Given the description of an element on the screen output the (x, y) to click on. 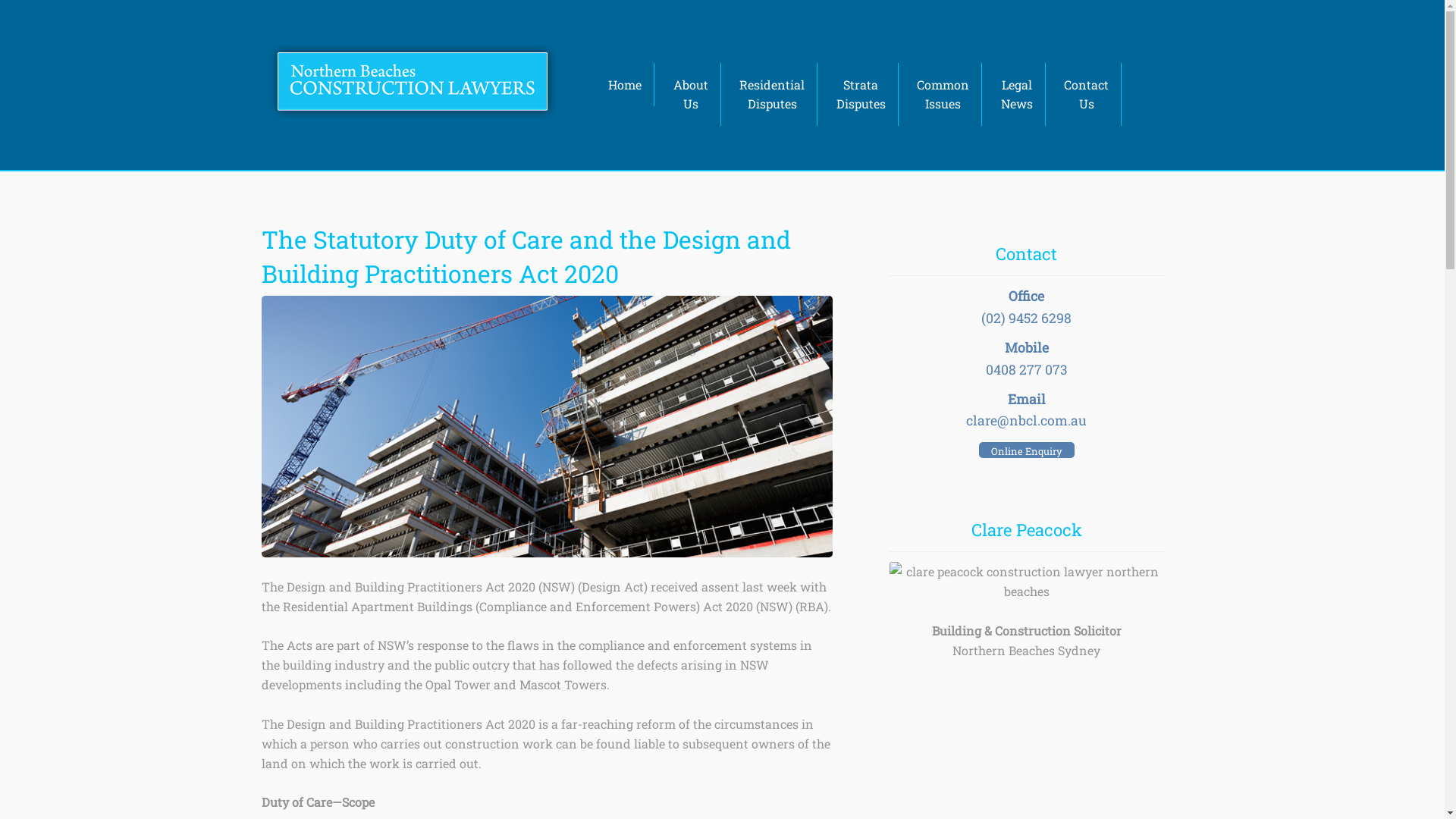
Mobile Element type: text (1026, 347)
0408 277 073 Element type: text (1026, 369)
Online Enquiry Element type: text (1026, 450)
clare@nbcl.com.au Element type: text (1026, 420)
Residential
Disputes Element type: text (772, 94)
Construction & Building Solicitors Sydney Element type: hover (412, 81)
Email Element type: text (1026, 398)
Common
Issues Element type: text (943, 94)
(02) 9452 6298 Element type: text (1026, 317)
Office Element type: text (1026, 295)
Legal
News Element type: text (1016, 94)
Strata
Disputes Element type: text (861, 94)
About
Us Element type: text (691, 94)
Home Element type: text (625, 84)
Contact
Us Element type: text (1086, 94)
